Given the description of an element on the screen output the (x, y) to click on. 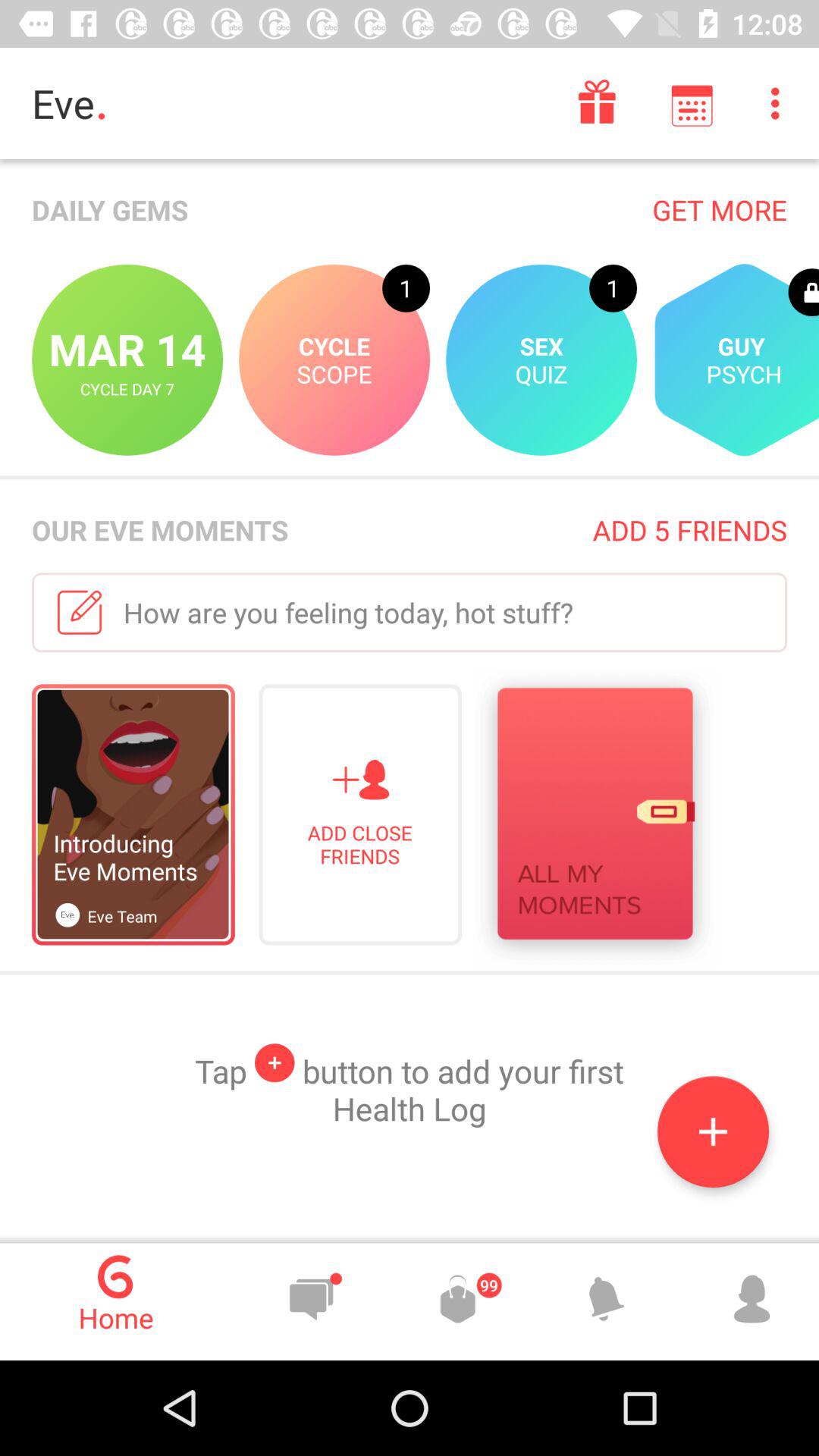
tap item to the right of the add close
friends item (594, 817)
